Given the description of an element on the screen output the (x, y) to click on. 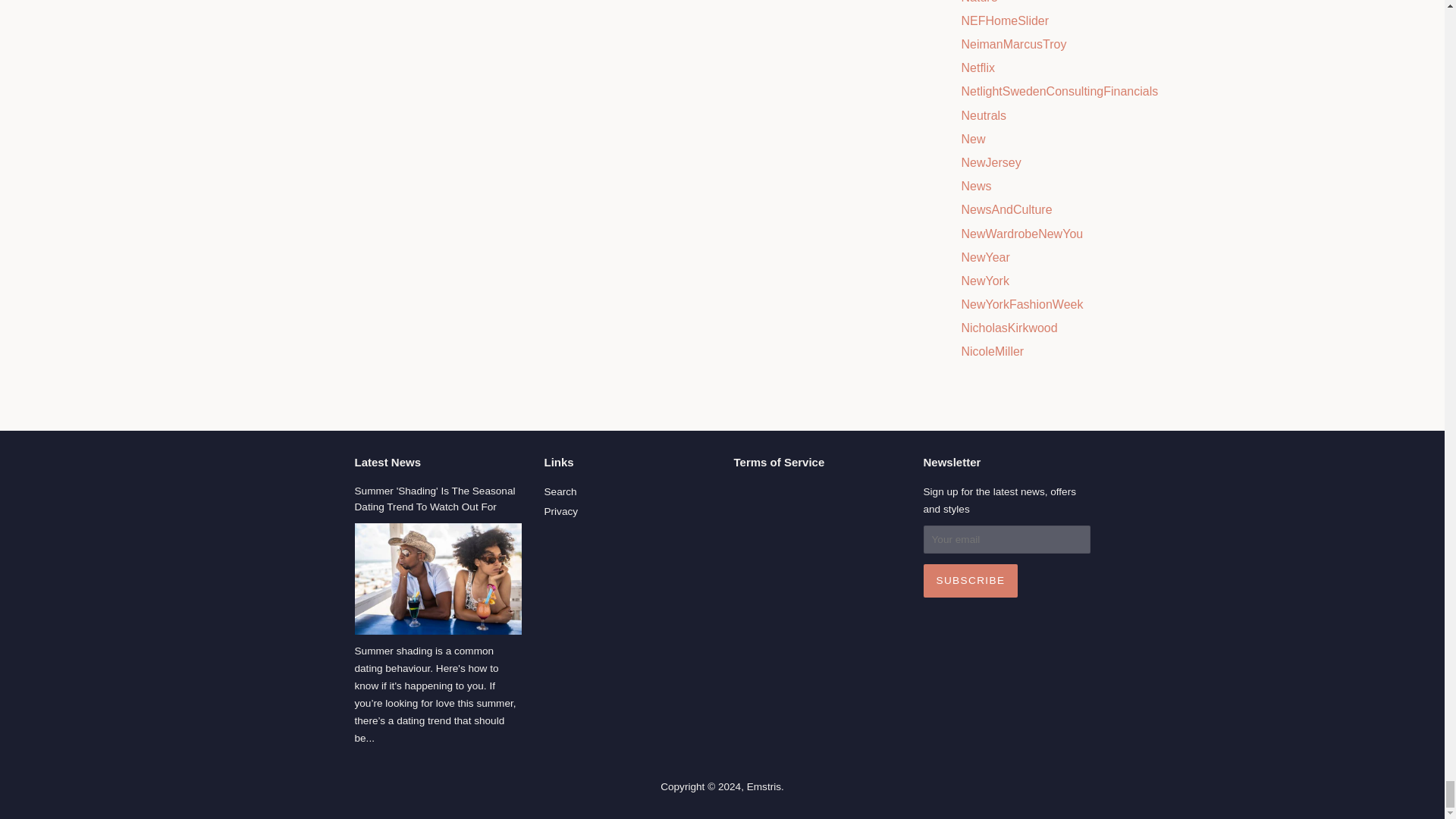
Subscribe (970, 580)
